Given the description of an element on the screen output the (x, y) to click on. 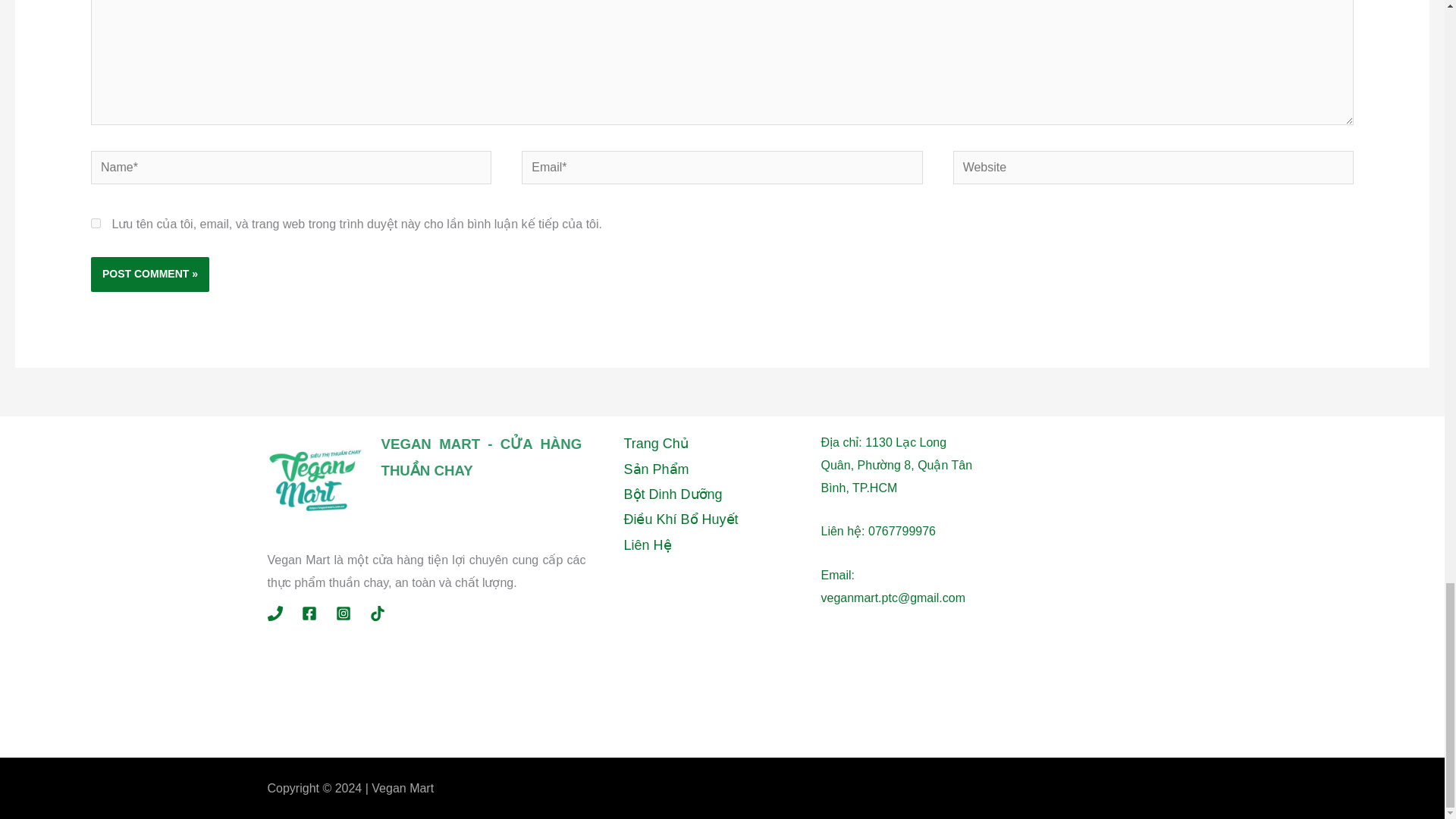
yes (95, 223)
